Given the description of an element on the screen output the (x, y) to click on. 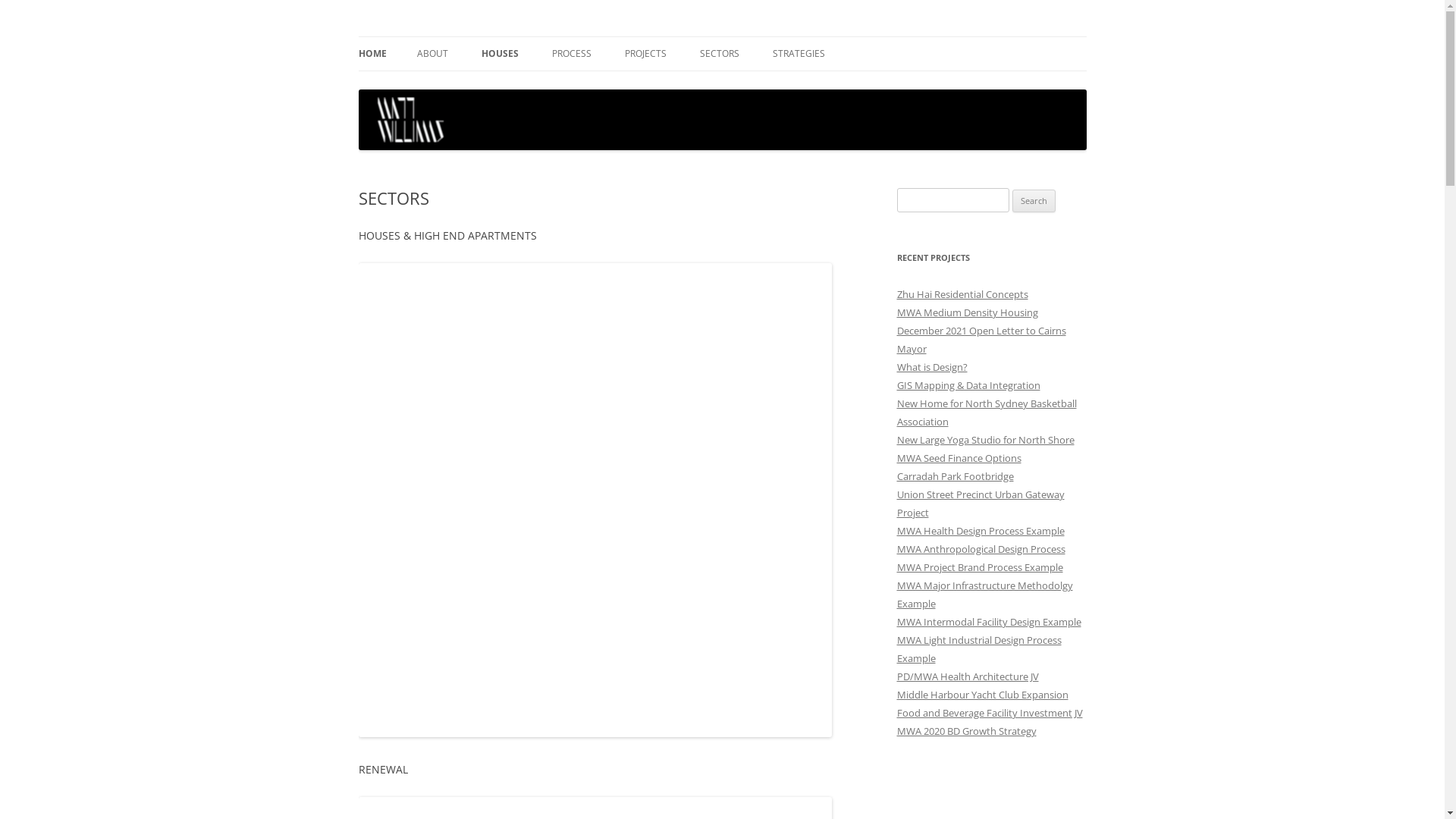
Zhu Hai Residential Concepts Element type: text (961, 294)
MWA Medium Density Housing Element type: text (966, 312)
MWA Seed Finance Options Element type: text (958, 457)
New Large Yoga Studio for North Shore Element type: text (984, 439)
CONTACT Element type: text (492, 85)
Skip to content Element type: text (721, 36)
HOME Element type: text (371, 53)
PROCESS Element type: text (571, 53)
PROJECTS Element type: text (645, 53)
01. WHAT IS DESIGN? Element type: text (627, 85)
MWA Project Brand Process Example Element type: text (979, 567)
MWA 2020 BD Growth Strategy Element type: text (965, 730)
SECTORS Element type: text (718, 53)
ABOUT Element type: text (432, 53)
Food and Beverage Facility Investment JV Element type: text (989, 712)
Middle Harbour Yacht Club Expansion Element type: text (981, 694)
MWA Major Infrastructure Methodolgy Example Element type: text (984, 594)
STRATEGIES Element type: text (797, 53)
AIRLIE BEACH HOUSE Element type: text (556, 85)
BRANDING Element type: text (847, 85)
PD/MWA Health Architecture JV Element type: text (967, 676)
What is Design? Element type: text (931, 366)
MWA Anthropological Design Process Element type: text (980, 548)
New Home for North Sydney Basketball Association Element type: text (986, 412)
AGED CARE Element type: text (700, 85)
MWA Element type: text (383, 36)
Union Street Precinct Urban Gateway Project Element type: text (979, 503)
HOUSES Element type: text (498, 53)
GIS Mapping & Data Integration Element type: text (967, 385)
December 2021 Open Letter to Cairns Mayor Element type: text (980, 339)
MWA Health Design Process Example Element type: text (979, 530)
Carradah Park Footbridge Element type: text (954, 476)
Search Element type: text (1033, 200)
MWA Intermodal Facility Design Example Element type: text (988, 621)
MWA Light Industrial Design Process Example Element type: text (978, 649)
